Given the description of an element on the screen output the (x, y) to click on. 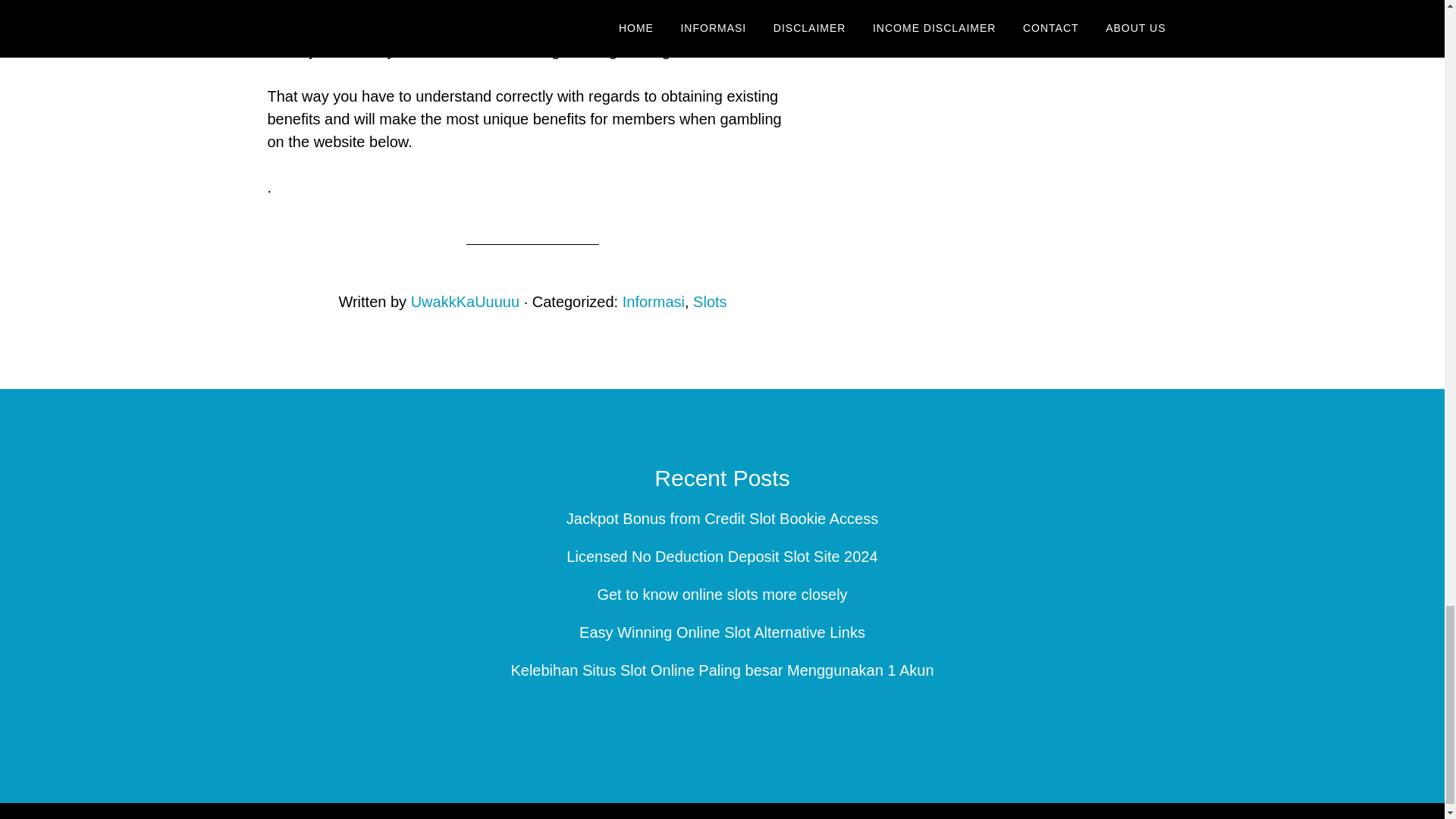
Slots (709, 301)
UwakkKaUuuuu (464, 301)
Informasi (653, 301)
